Given the description of an element on the screen output the (x, y) to click on. 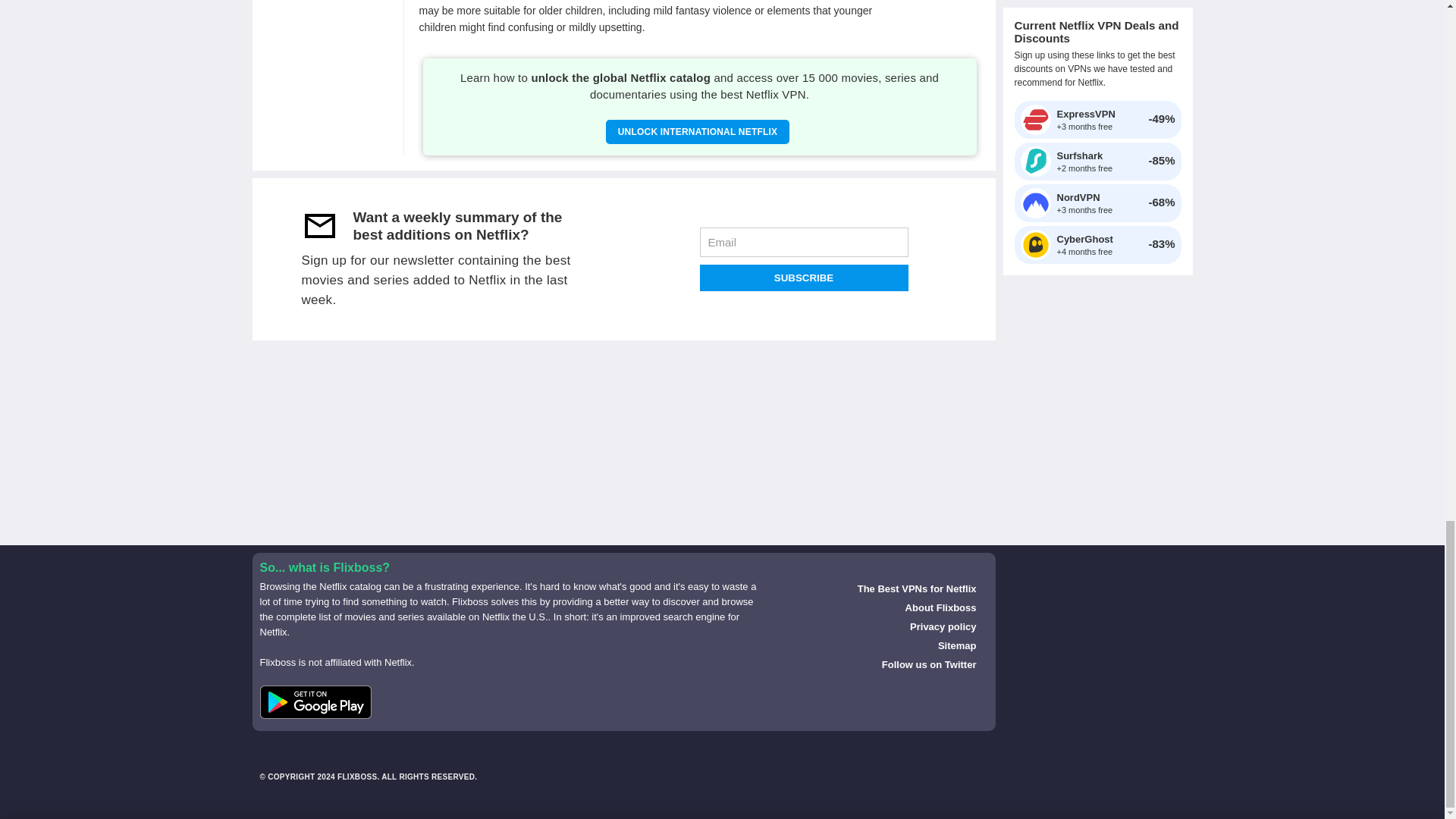
Subscribe (802, 277)
